Given the description of an element on the screen output the (x, y) to click on. 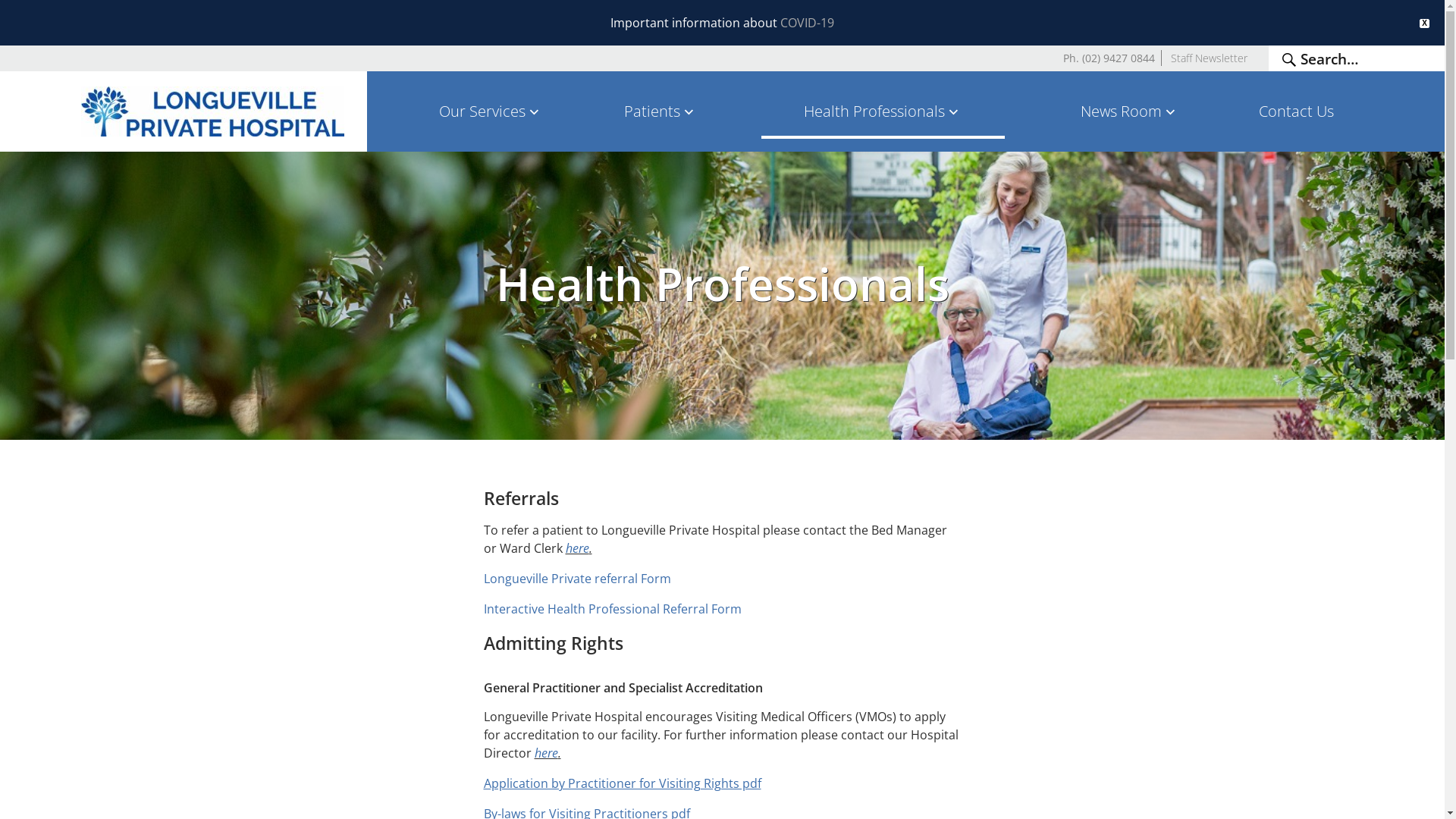
Longueville Private referral Form Element type: text (577, 578)
Patients Element type: text (659, 111)
News Room Element type: text (1129, 111)
here Element type: text (577, 547)
Contact Us Element type: text (1295, 111)
Interactive Health Professional Referral Form Element type: text (612, 608)
Ph. (02) 9427 0844 Element type: text (1108, 57)
Application by Practitioner for Visiting Rights pdf Element type: text (622, 783)
COVID-19 Element type: text (807, 22)
Staff Newsletter Element type: text (1208, 57)
Our Services Element type: text (490, 111)
here Element type: text (545, 752)
Health Professionals Element type: text (883, 111)
